Given the description of an element on the screen output the (x, y) to click on. 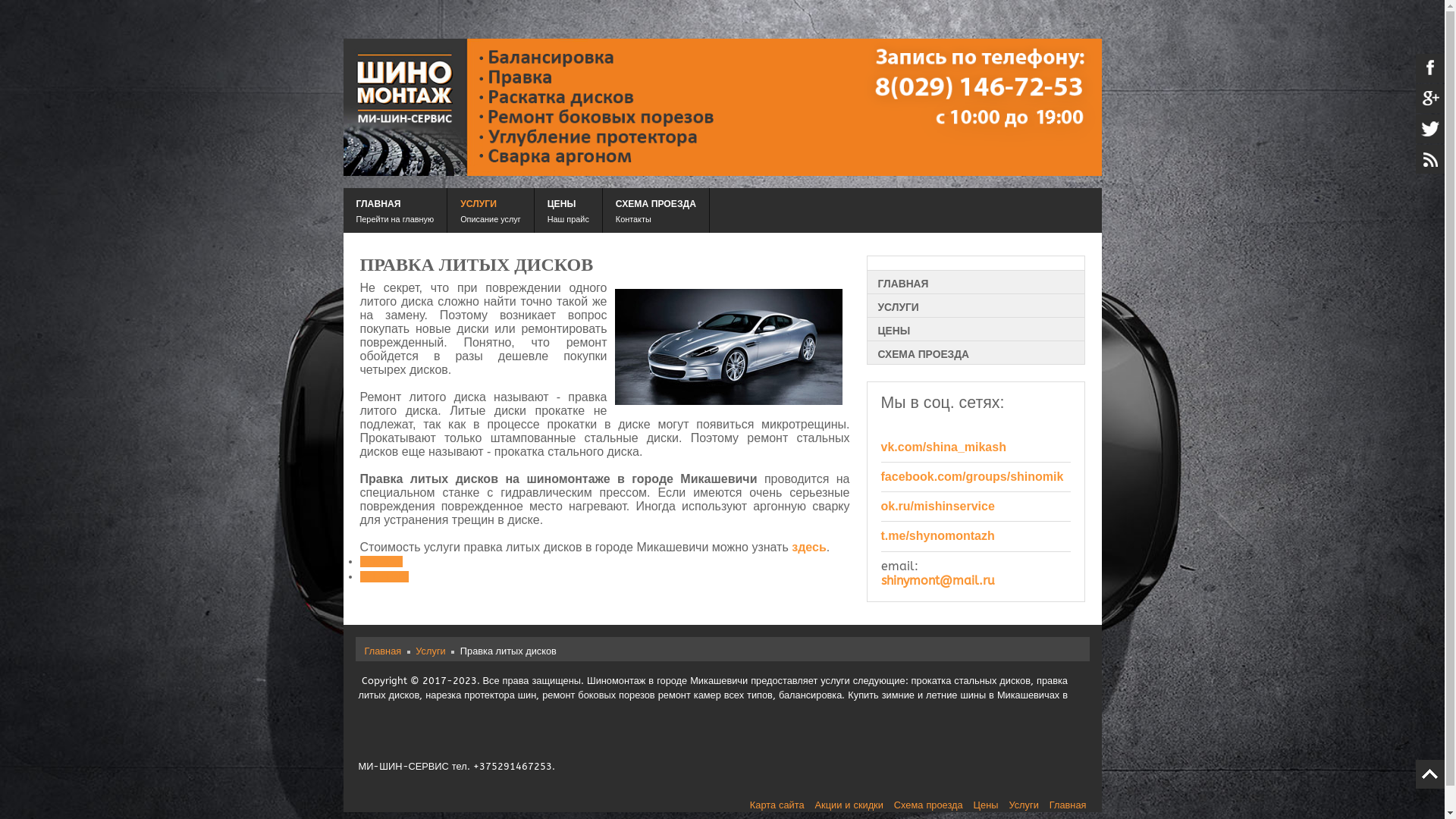
t.me/shynomontazh Element type: text (937, 535)
shinymont@mail.ru Element type: text (937, 580)
vk.com/shina_mikash Element type: text (943, 446)
ok.ru/mishinservice Element type: text (937, 505)
facebook.com/groups/shinomik Element type: text (972, 476)
